Given the description of an element on the screen output the (x, y) to click on. 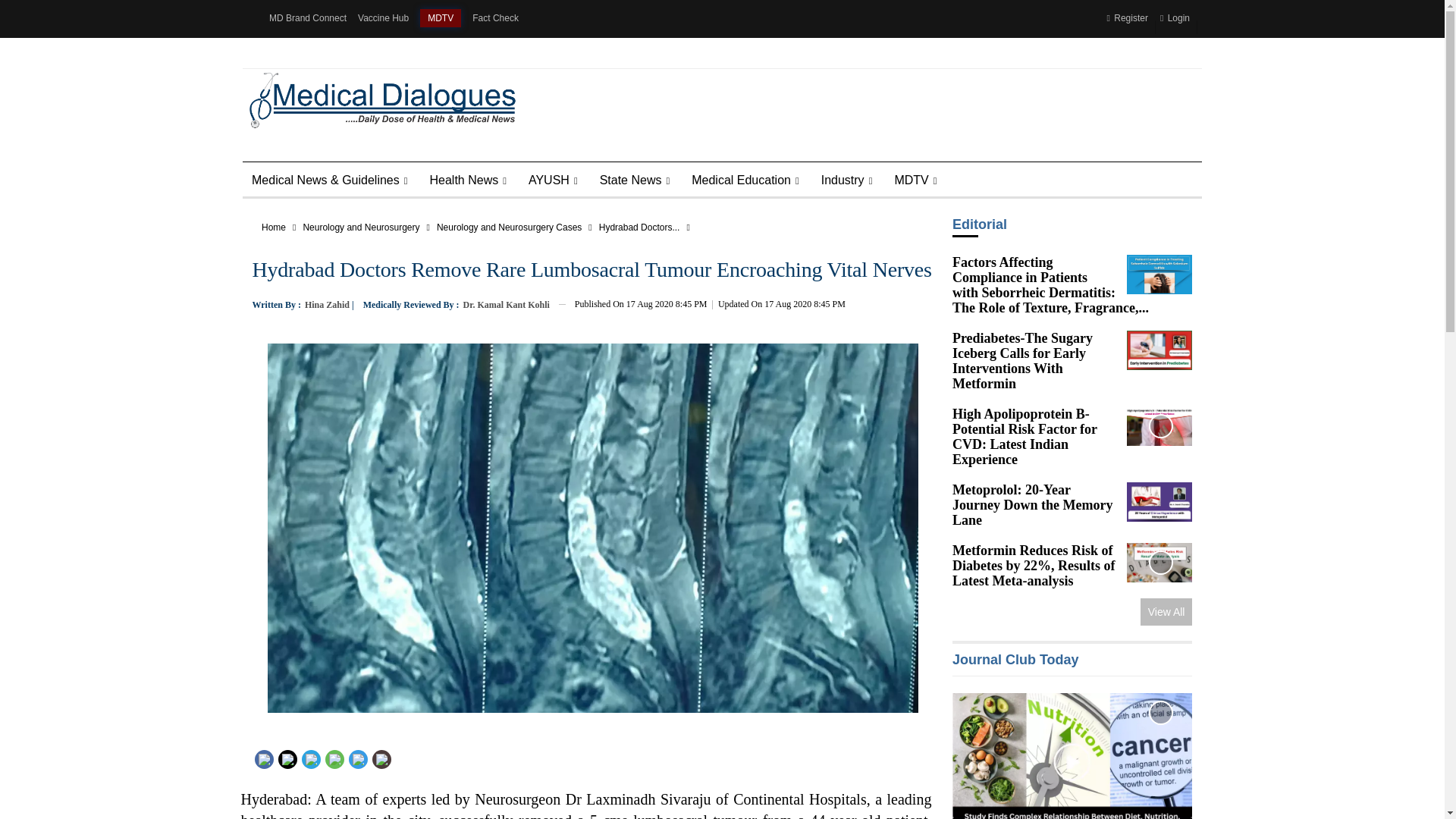
LinkedIn (310, 757)
Share by Email (381, 758)
Medical Dialogues (378, 98)
facebook (263, 758)
MDTV (440, 18)
Facebook (263, 757)
telegram (357, 758)
Twitter (287, 757)
linkedin (309, 758)
whatsapp (334, 758)
twitter (288, 758)
Vaccine Hub (383, 18)
Fact Check (494, 18)
MD Brand Connect (307, 18)
